Given the description of an element on the screen output the (x, y) to click on. 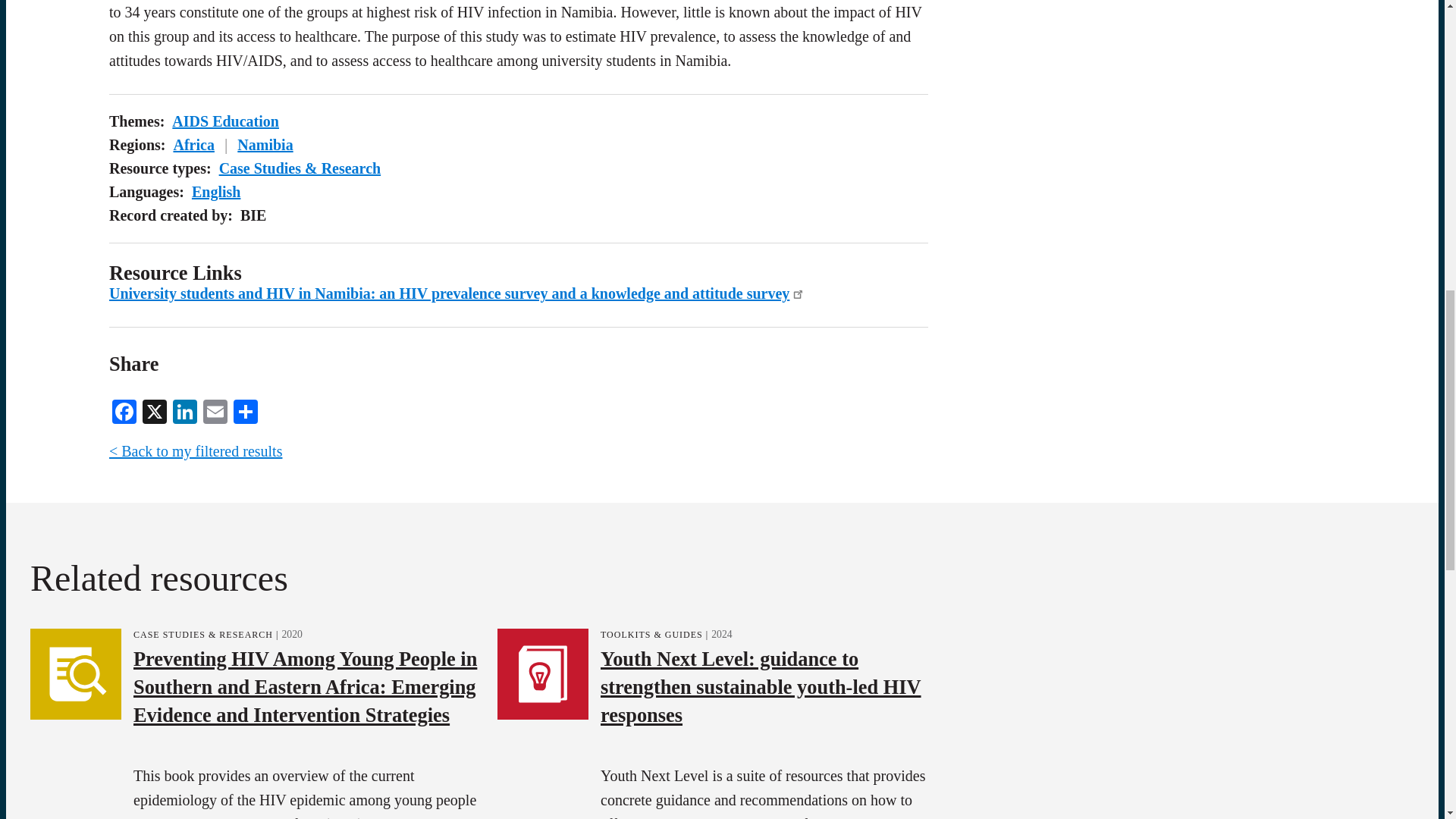
Africa (193, 144)
X (154, 410)
Email (215, 410)
LinkedIn (185, 410)
AIDS Education (225, 121)
Facebook (124, 410)
English (216, 191)
Namibia (264, 144)
